Given the description of an element on the screen output the (x, y) to click on. 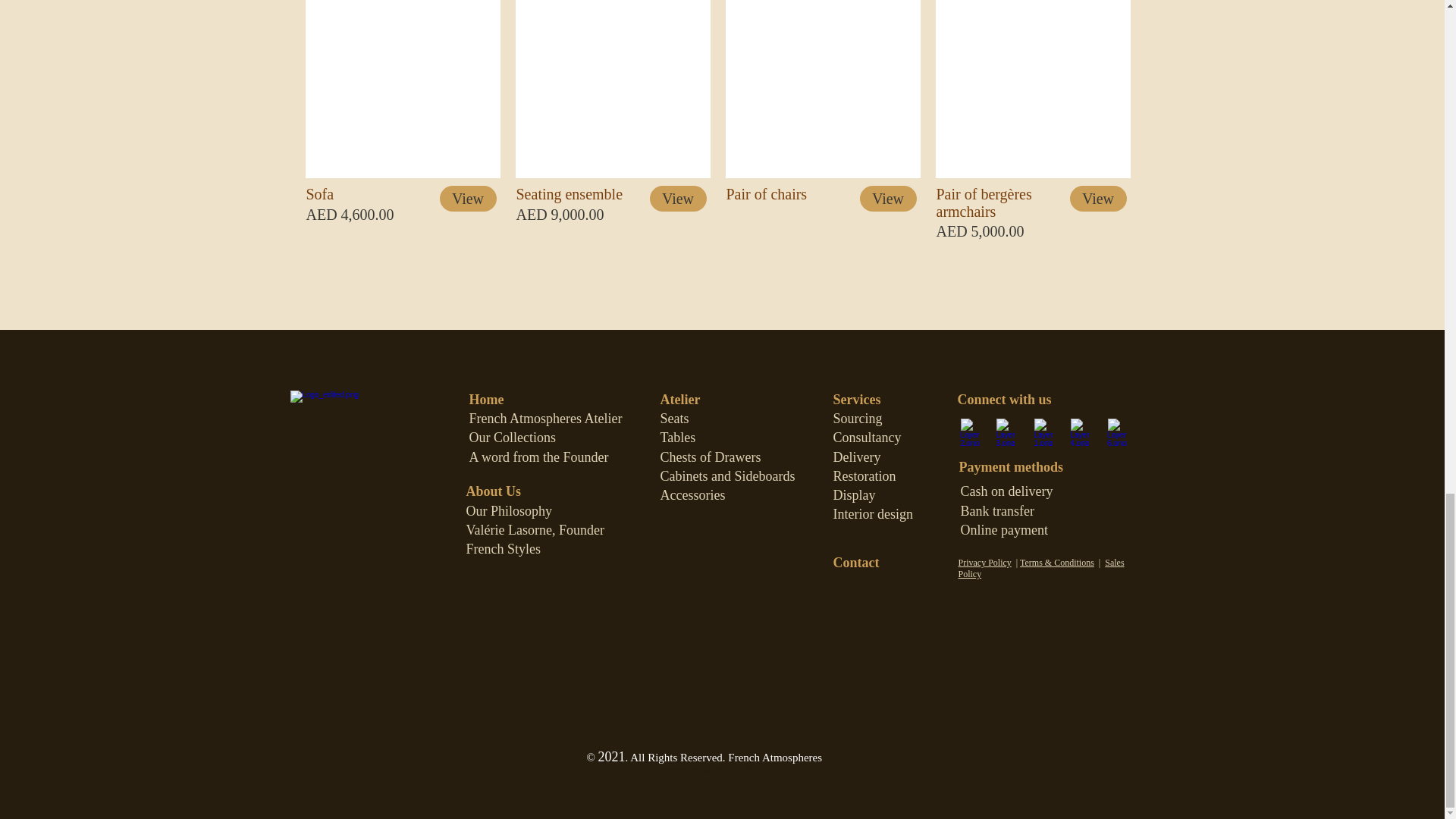
View (677, 198)
Seating ensemble (612, 89)
View (467, 198)
View (888, 198)
Sofa (401, 89)
View (1096, 198)
Home (485, 399)
Pair of chairs (822, 89)
